Given the description of an element on the screen output the (x, y) to click on. 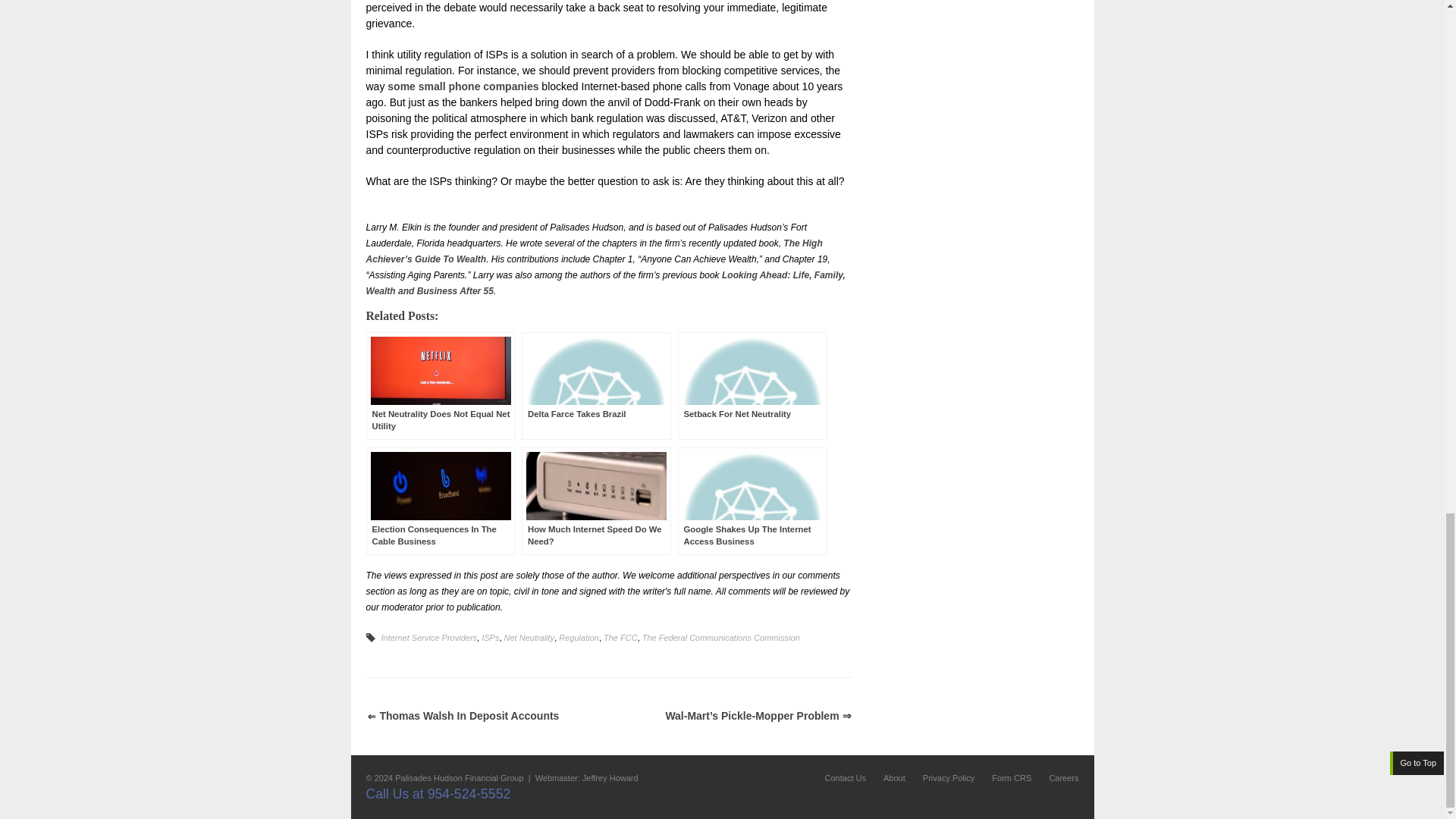
Election Consequences In The Cable Business (440, 501)
Net Neutrality Does Not Equal Net Utility (440, 385)
some small phone companies (464, 86)
Delta Farce Takes Brazil (596, 385)
Looking Ahead: Life, Family, Wealth and Business After 55 (604, 283)
Setback For Net Neutrality (752, 385)
Net Neutrality Does Not Equal Net Utility (440, 385)
Setback For Net Neutrality (752, 385)
Delta Farce Takes Brazil (596, 385)
